Given the description of an element on the screen output the (x, y) to click on. 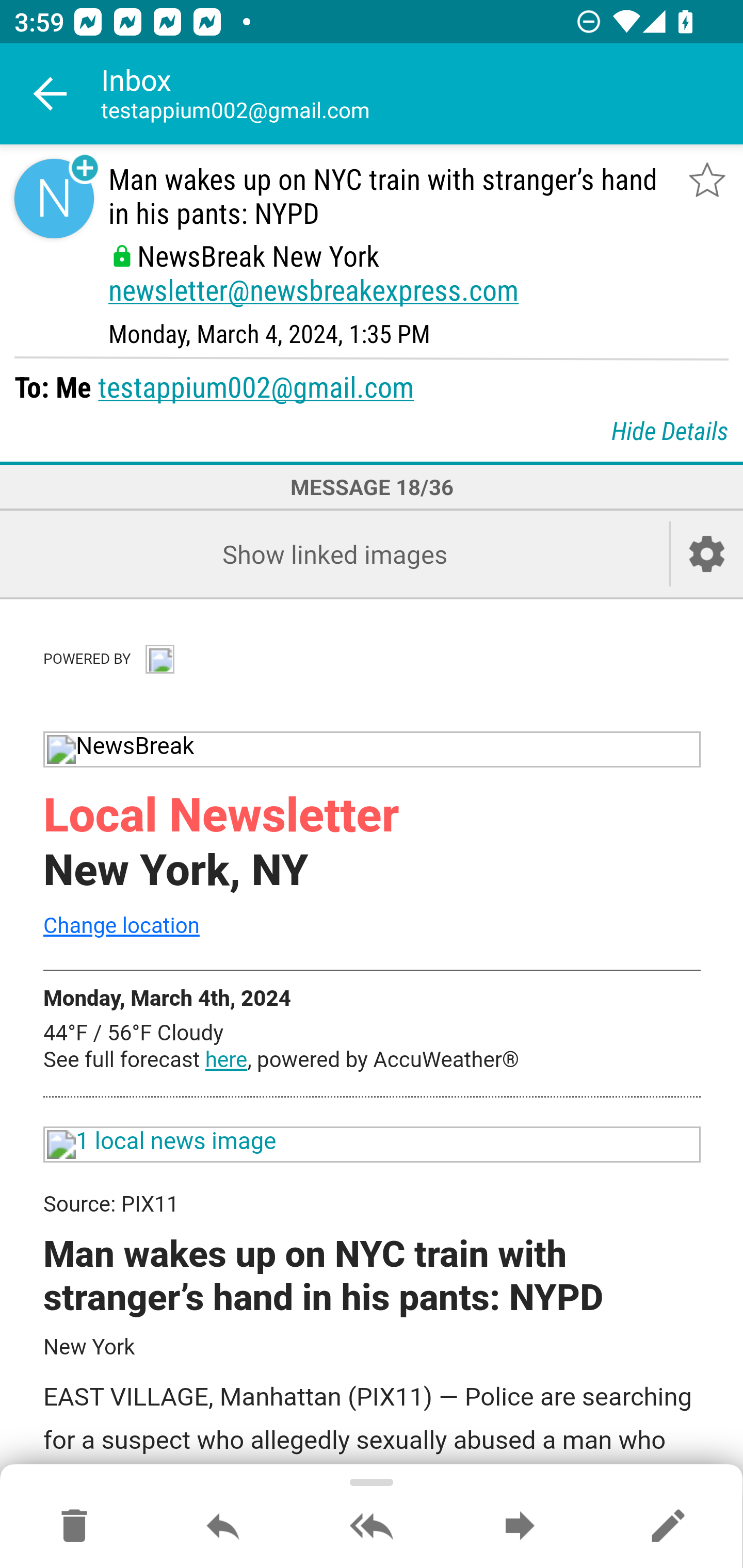
Navigate up (50, 93)
Inbox testappium002@gmail.com (422, 93)
Sender contact button (53, 198)
Show linked images (334, 554)
Account setup (706, 554)
info (159, 657)
Change location (121, 925)
here (225, 1060)
1 local news image (372, 1143)
Move to Deleted (74, 1527)
Reply (222, 1527)
Reply all (371, 1527)
Forward (519, 1527)
Reply as new (667, 1527)
